Given the description of an element on the screen output the (x, y) to click on. 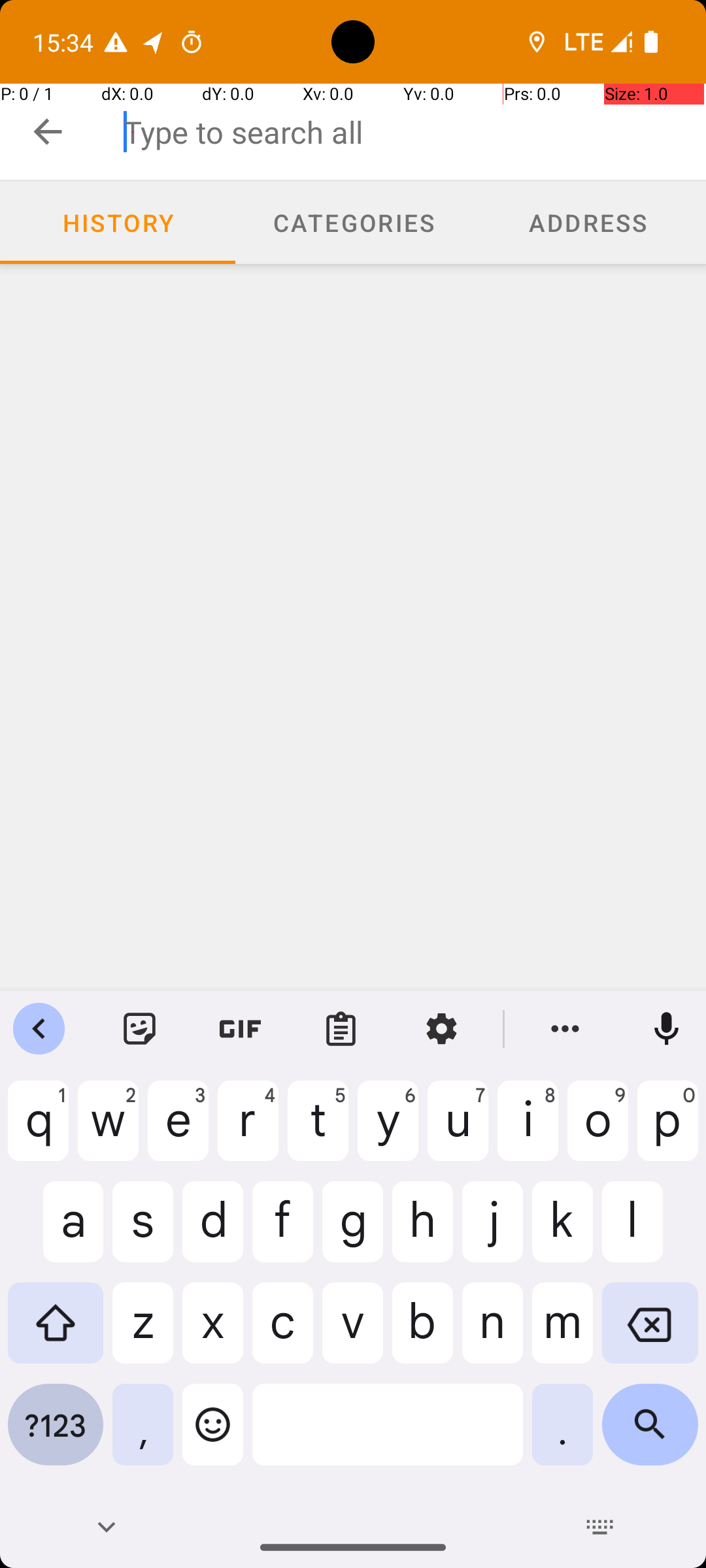
Type to search all Element type: android.widget.EditText (414, 131)
History Element type: android.widget.LinearLayout (117, 222)
Categories Element type: android.widget.LinearLayout (352, 222)
Address Element type: android.widget.LinearLayout (588, 222)
HISTORY Element type: android.widget.TextView (117, 222)
CATEGORIES Element type: android.widget.TextView (352, 222)
ADDRESS Element type: android.widget.TextView (587, 222)
OpenTracks notification: Distance: 8.20 mi Element type: android.widget.ImageView (153, 41)
